Given the description of an element on the screen output the (x, y) to click on. 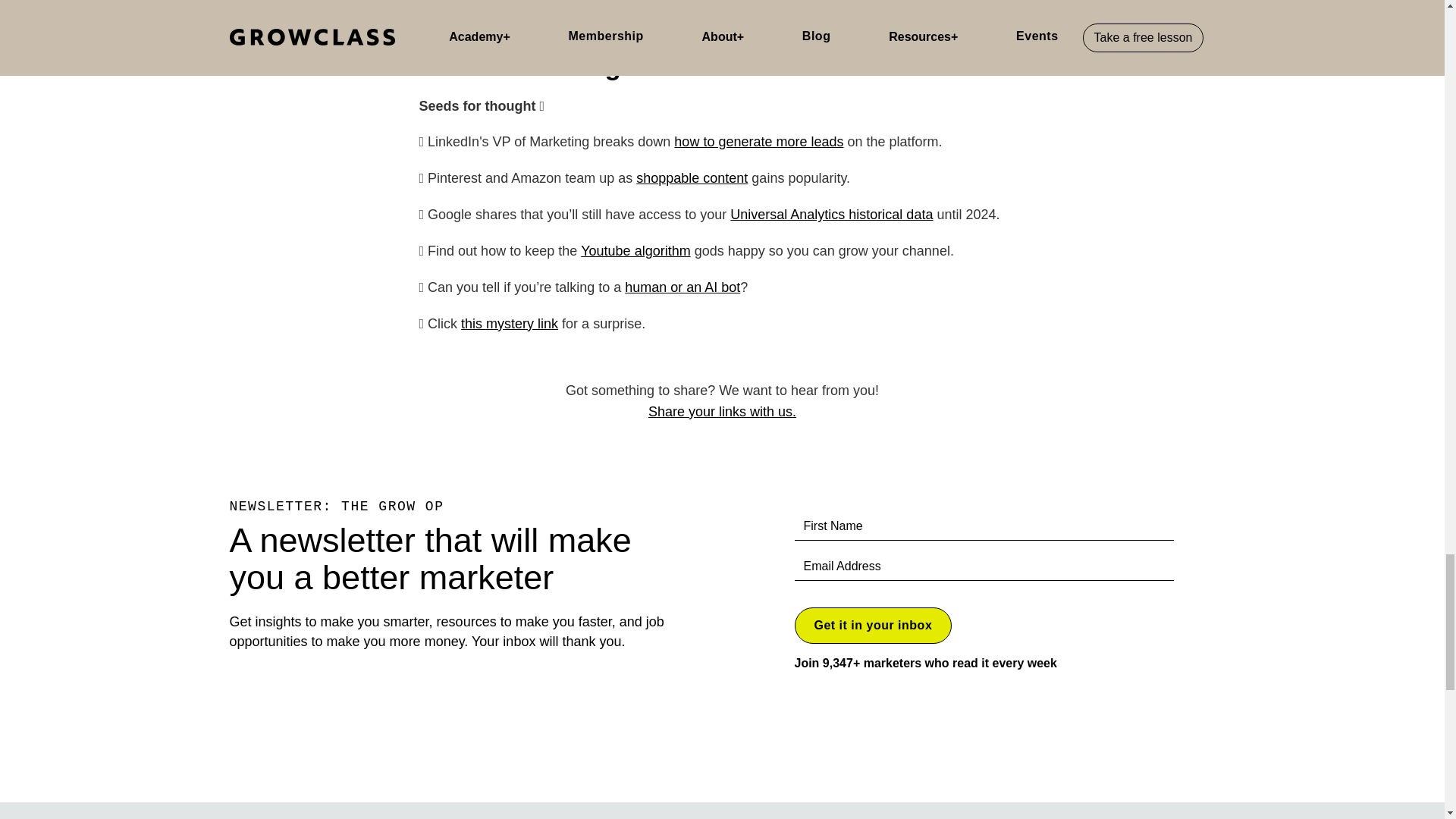
Get it in your inbox (873, 625)
Universal Analytics historical data (831, 214)
shoppable content (692, 177)
this mystery link (509, 323)
how to generate more leads (758, 141)
Share your links with us. (721, 411)
Get it in your inbox (873, 625)
human or an AI bot (681, 287)
Youtube algorithm (635, 250)
